Given the description of an element on the screen output the (x, y) to click on. 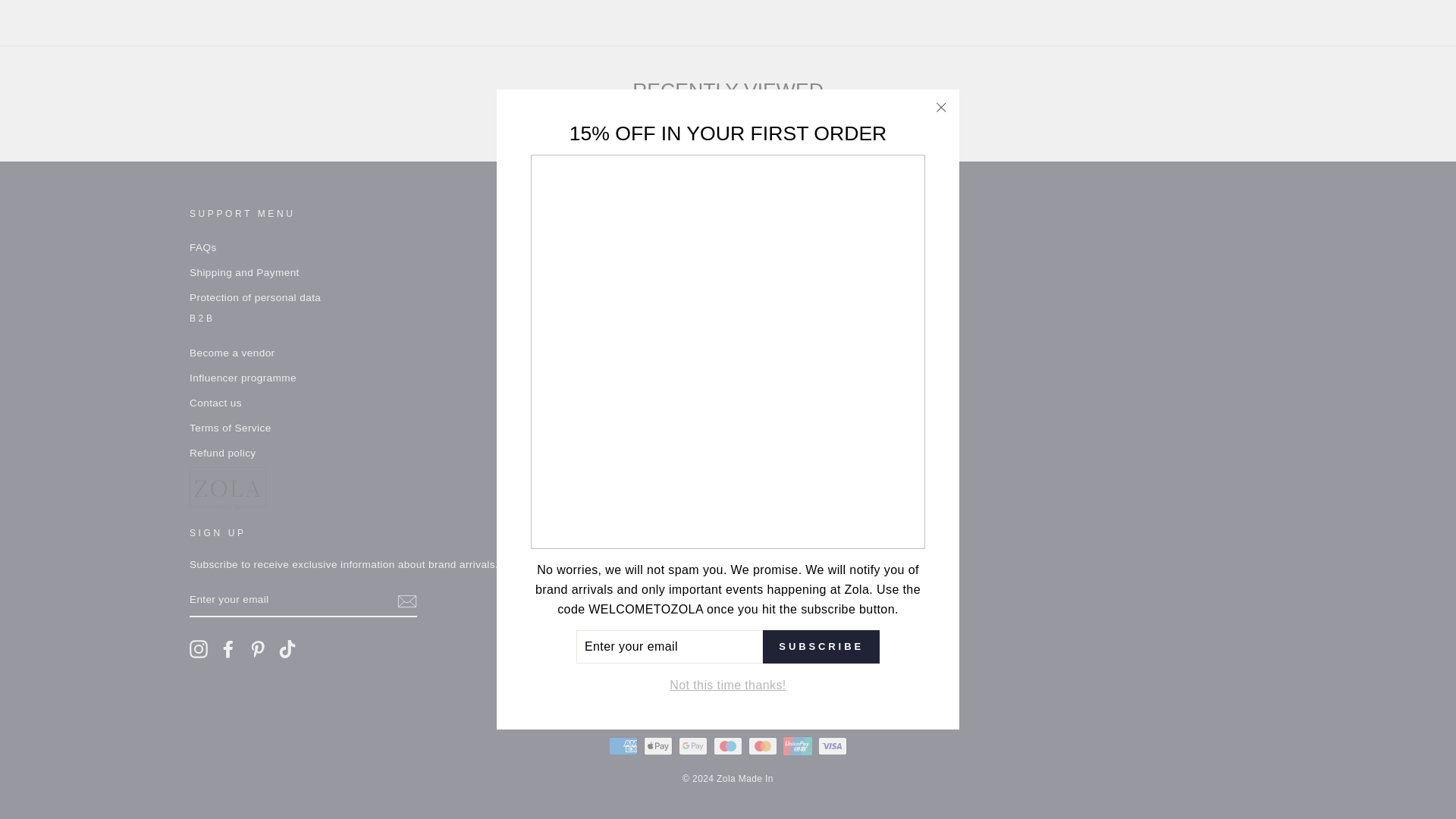
Maestro (727, 746)
Mastercard (762, 746)
American Express (622, 746)
Visa (832, 746)
Google Pay (692, 746)
Apple Pay (657, 746)
Union Pay (797, 746)
